Given the description of an element on the screen output the (x, y) to click on. 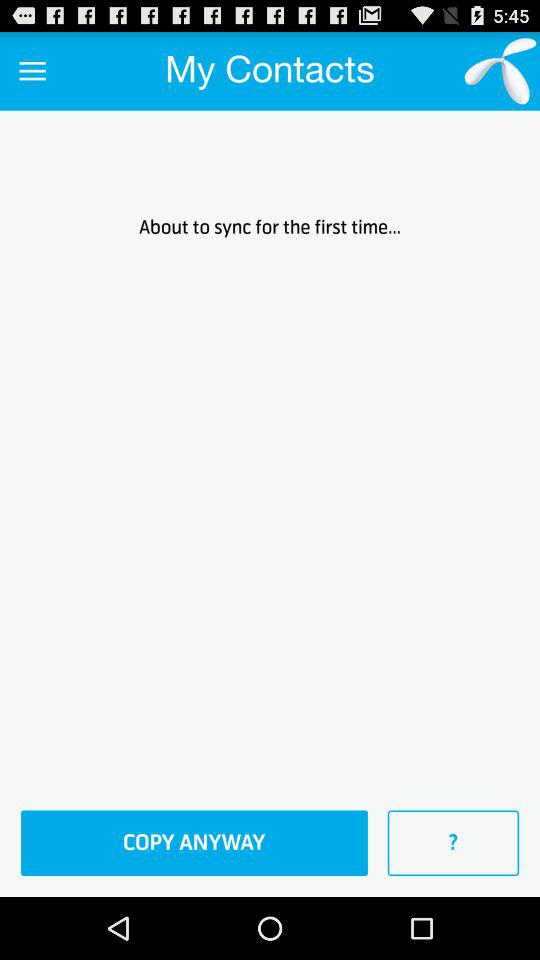
click the icon next to  ?  icon (194, 843)
